Given the description of an element on the screen output the (x, y) to click on. 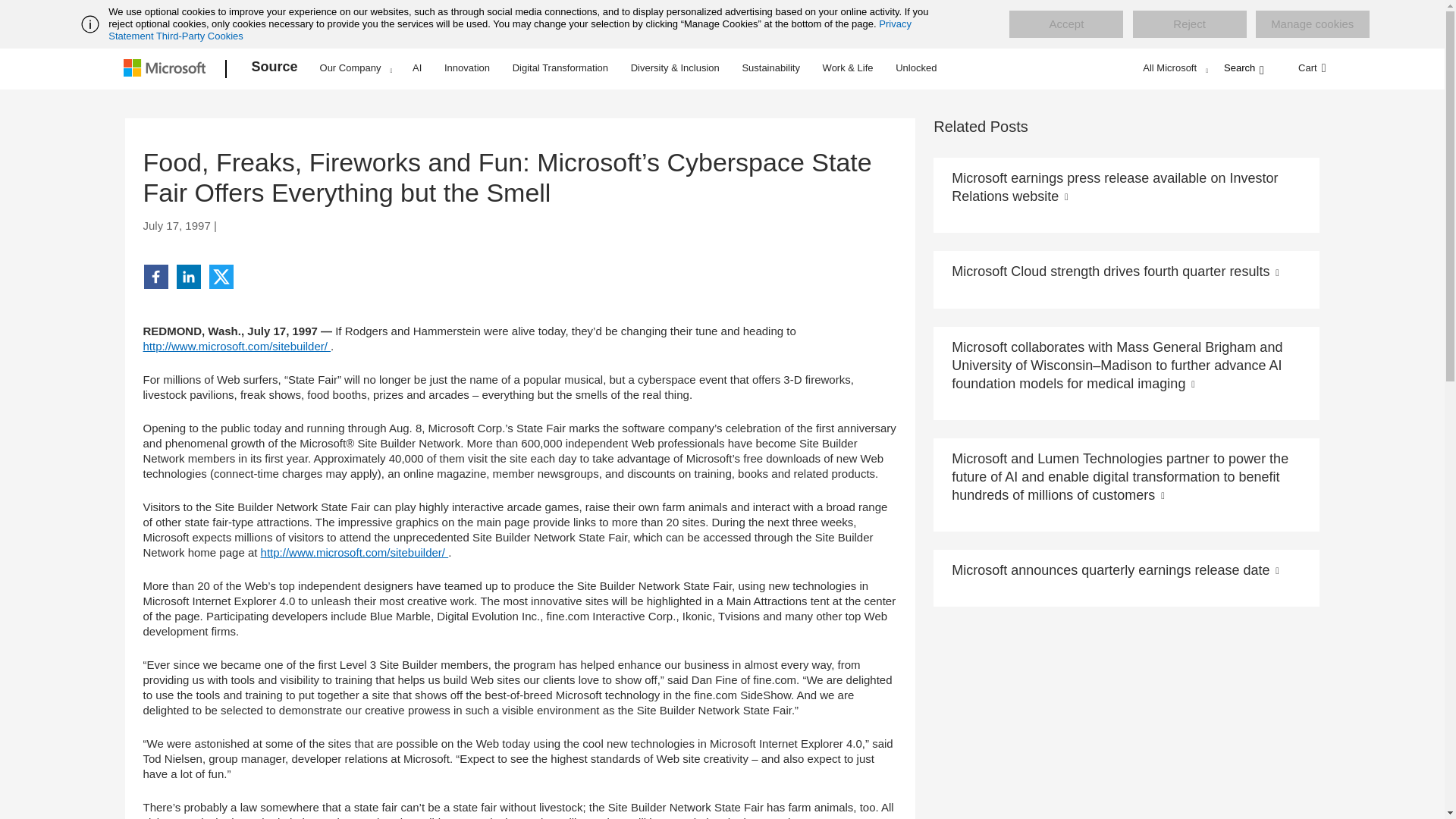
Innovation (467, 67)
Our Company (355, 67)
Accept (1065, 23)
All Microsoft (1173, 67)
Microsoft (167, 69)
Unlocked (915, 67)
Manage cookies (1312, 23)
Digital Transformation (559, 67)
Third-Party Cookies (199, 35)
Reject (1189, 23)
Source (274, 69)
Sustainability (770, 67)
Privacy Statement (509, 29)
